Given the description of an element on the screen output the (x, y) to click on. 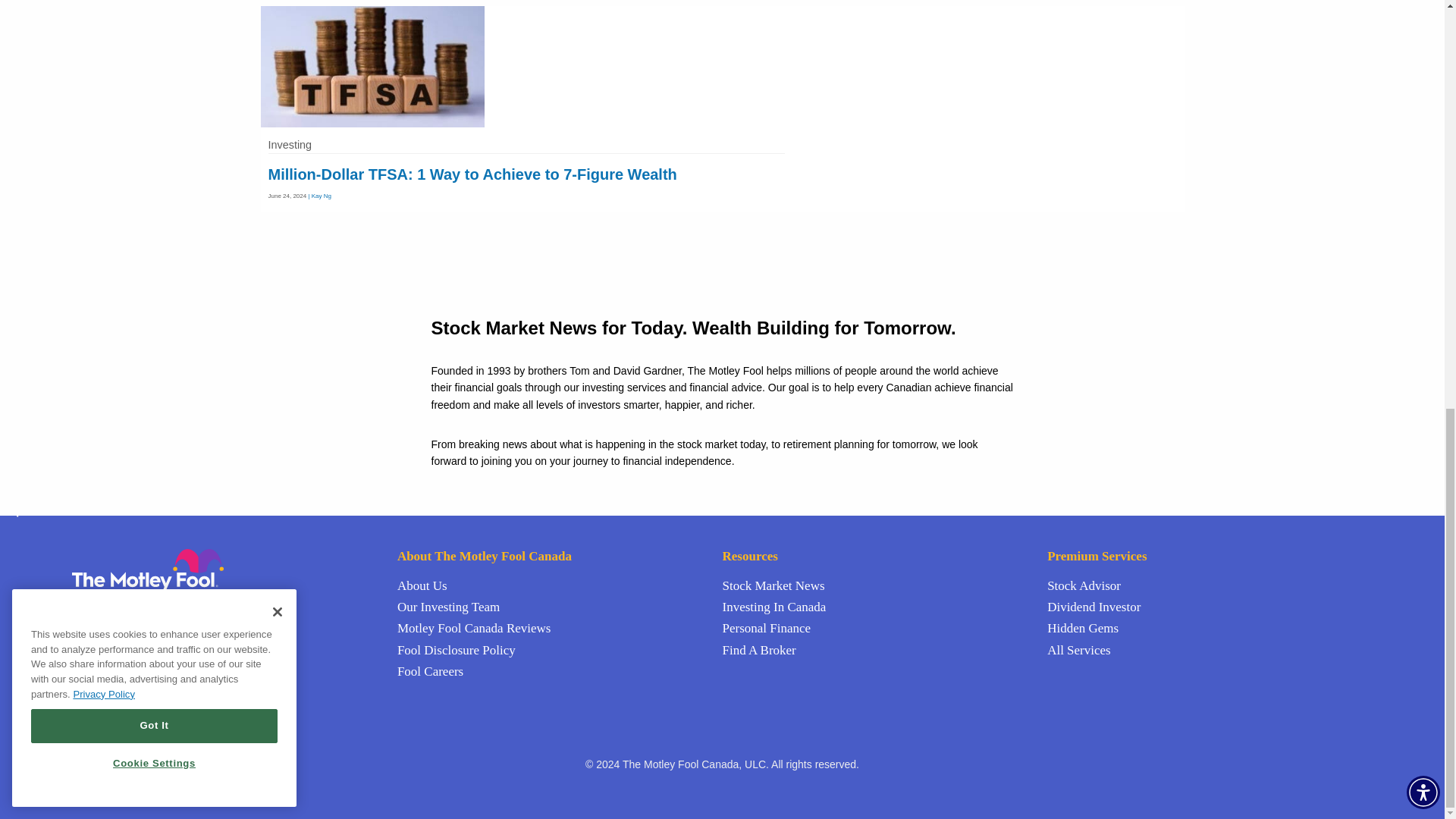
Follow us on Google News (135, 603)
Subscribe to our feed (118, 603)
Like us on Facebook (99, 603)
Follow us on Twitter (80, 603)
